Given the description of an element on the screen output the (x, y) to click on. 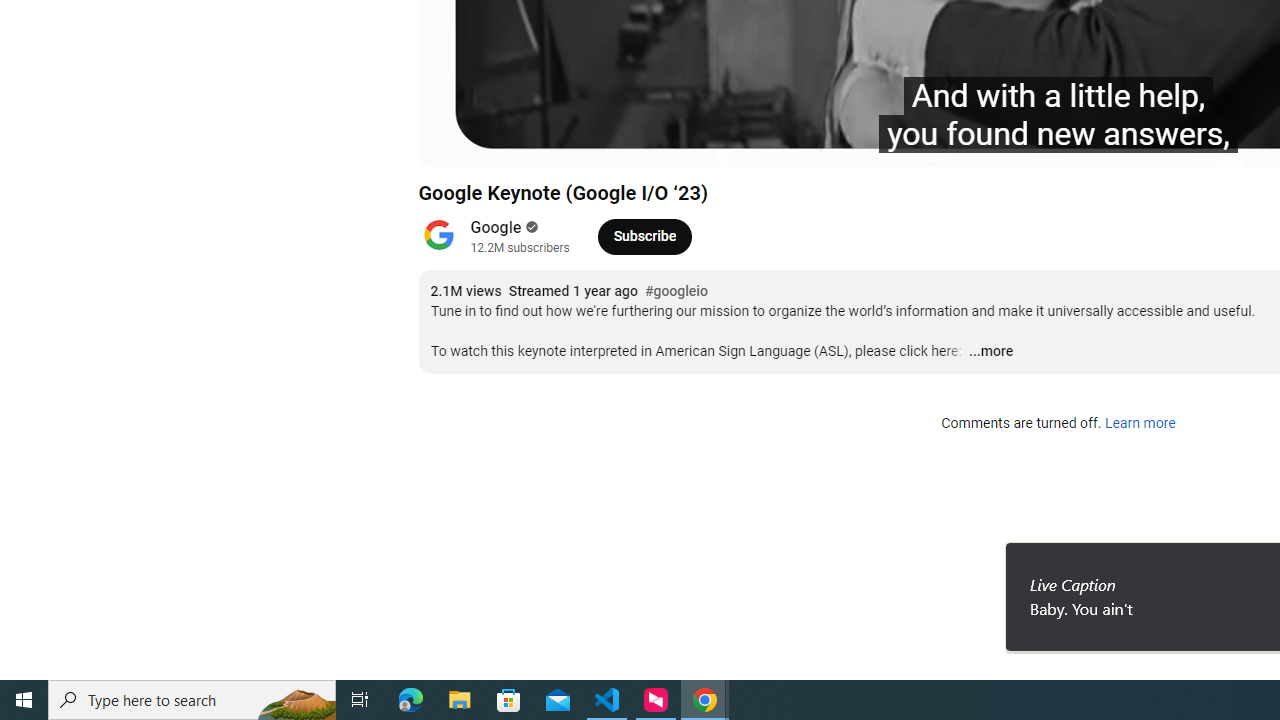
...more (989, 352)
Next (SHIFT+n) (500, 142)
Opening Film (717, 142)
#googleio (675, 291)
Learn more (1139, 423)
Subscribe to Google. (644, 236)
Play (k) (453, 142)
Mute (m) (548, 142)
